Given the description of an element on the screen output the (x, y) to click on. 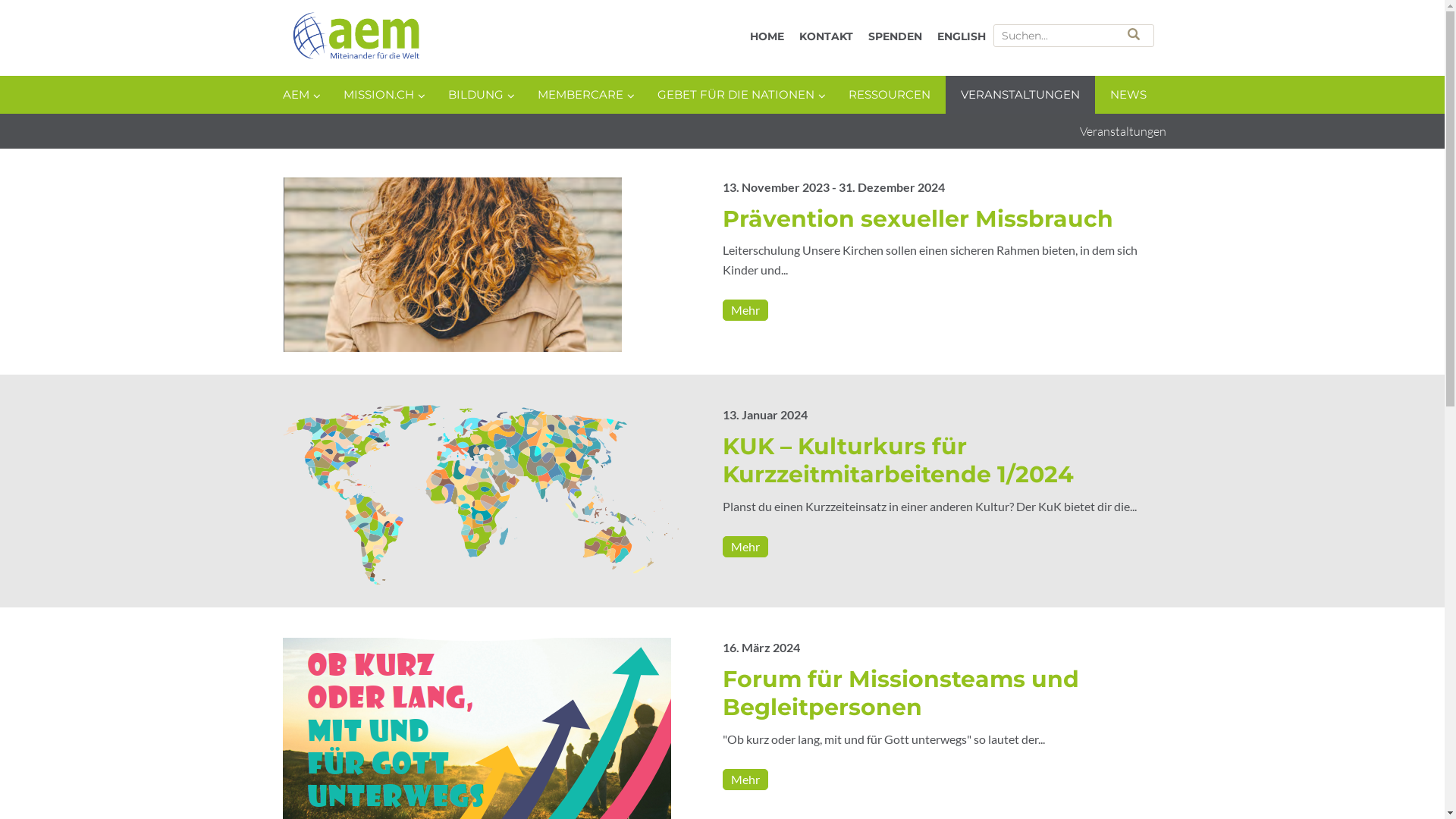
HOME Element type: text (765, 36)
SPENDEN Element type: text (893, 36)
AEM Element type: text (441, 39)
Mehr Element type: text (744, 545)
Mehr Element type: text (744, 309)
MISSION.CH Element type: text (379, 94)
ENGLISH Element type: text (961, 36)
MEMBERCARE Element type: text (581, 94)
VERANSTALTUNGEN Element type: text (1019, 94)
Search Element type: text (1134, 33)
BILDUNG Element type: text (476, 94)
NEWS Element type: text (1128, 94)
RESSOURCEN Element type: text (888, 94)
Mehr Element type: text (744, 779)
KONTAKT Element type: text (825, 36)
